Given the description of an element on the screen output the (x, y) to click on. 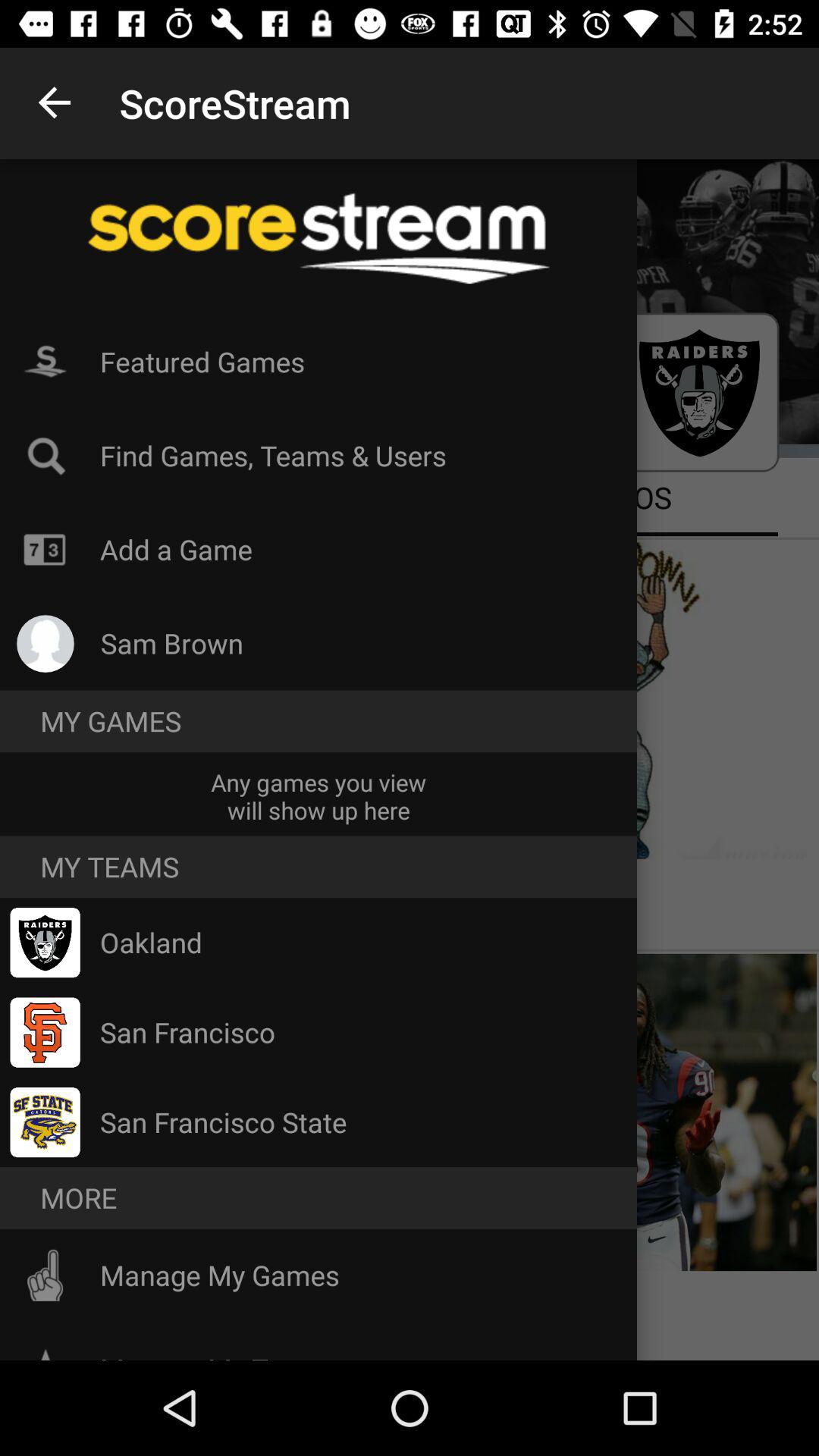
click on icon on the left side of featured games (45, 362)
select the image which is at bottom right side of the page (613, 1112)
select the image which is at bottom right side of the page (613, 1112)
click to the left side of sam brown (45, 643)
